Given the description of an element on the screen output the (x, y) to click on. 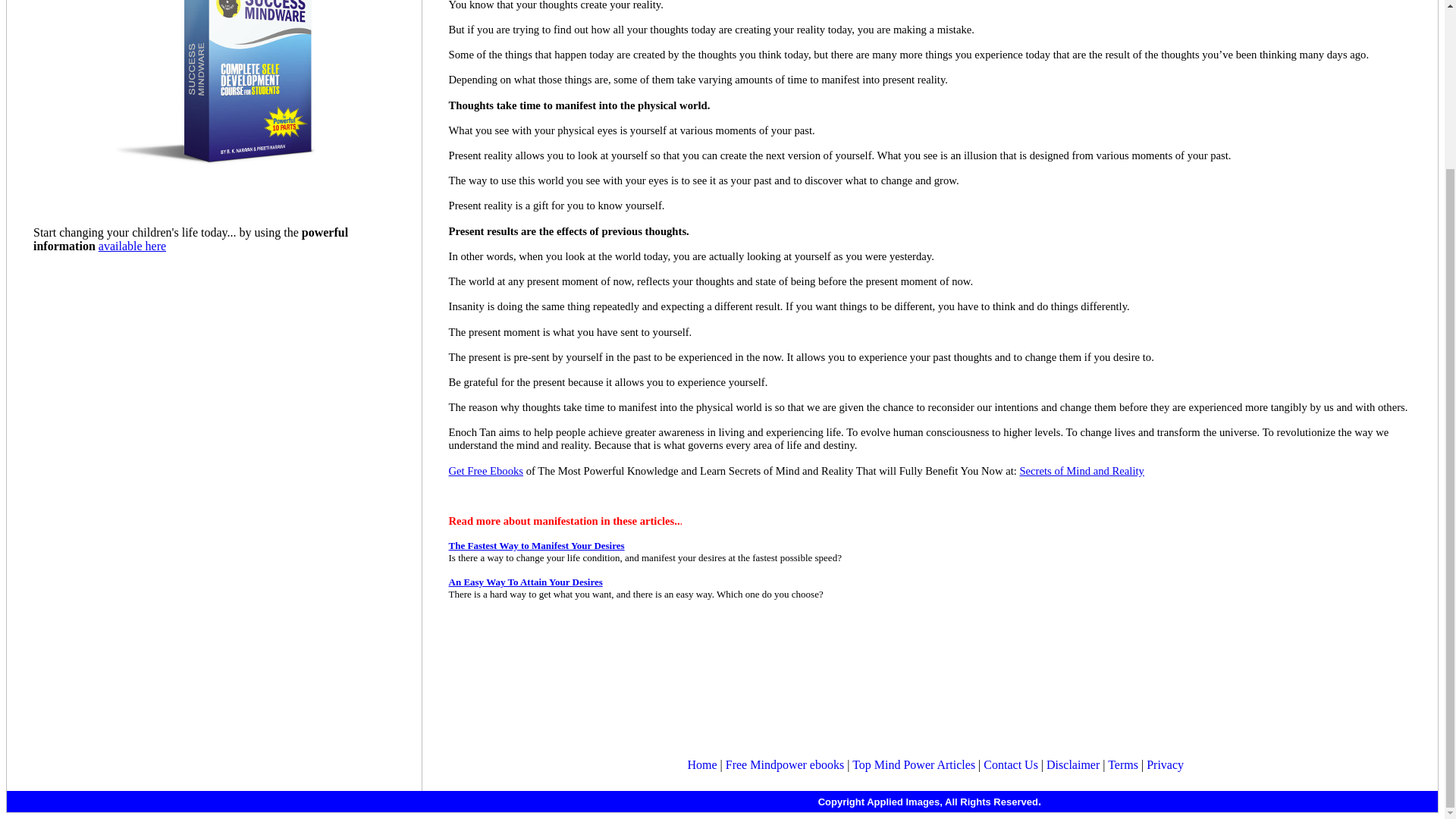
Privacy (1165, 764)
Contact Us (1011, 764)
Free Mindpower ebooks (784, 764)
Home (701, 764)
An Easy Way To Attain Your Desires (525, 582)
available here (132, 245)
Disclaimer (1072, 764)
Secrets of Mind and Reality (1080, 470)
Get Free Ebooks (486, 470)
Terms (1123, 764)
